Given the description of an element on the screen output the (x, y) to click on. 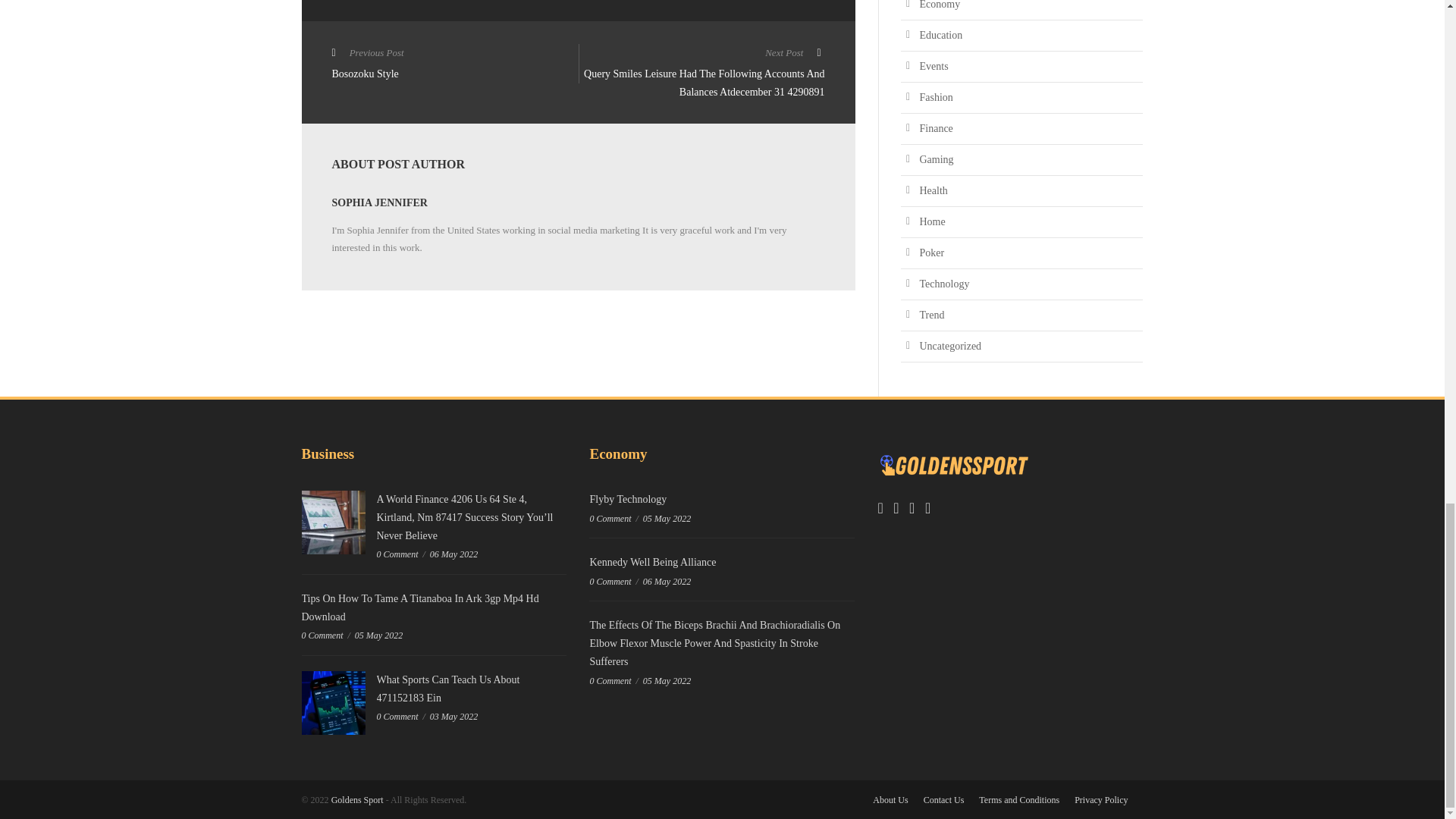
Posts by Sophia Jennifer (379, 202)
SOPHIA JENNIFER (454, 64)
